Given the description of an element on the screen output the (x, y) to click on. 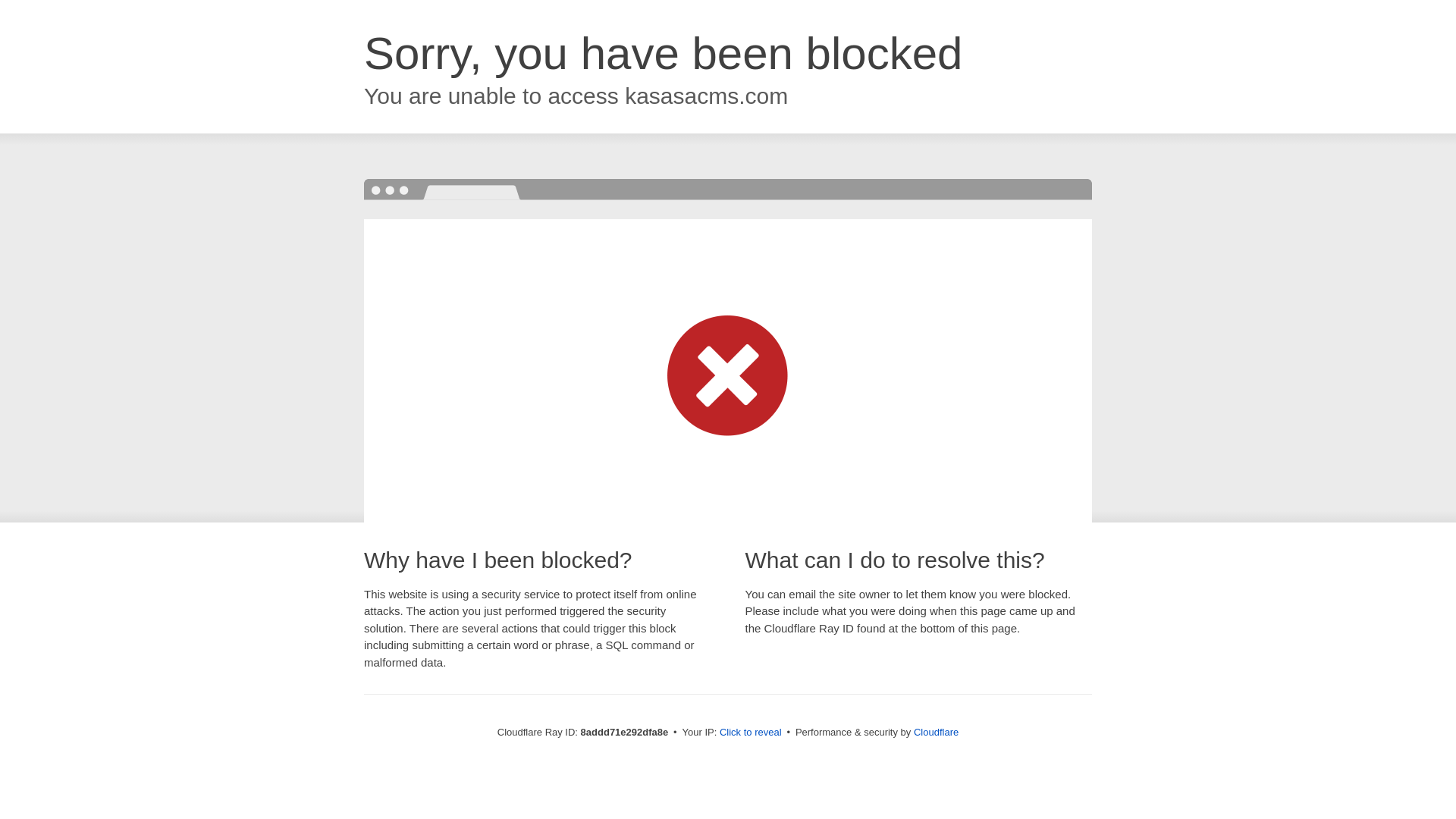
Click to reveal (750, 732)
Cloudflare (936, 731)
